Given the description of an element on the screen output the (x, y) to click on. 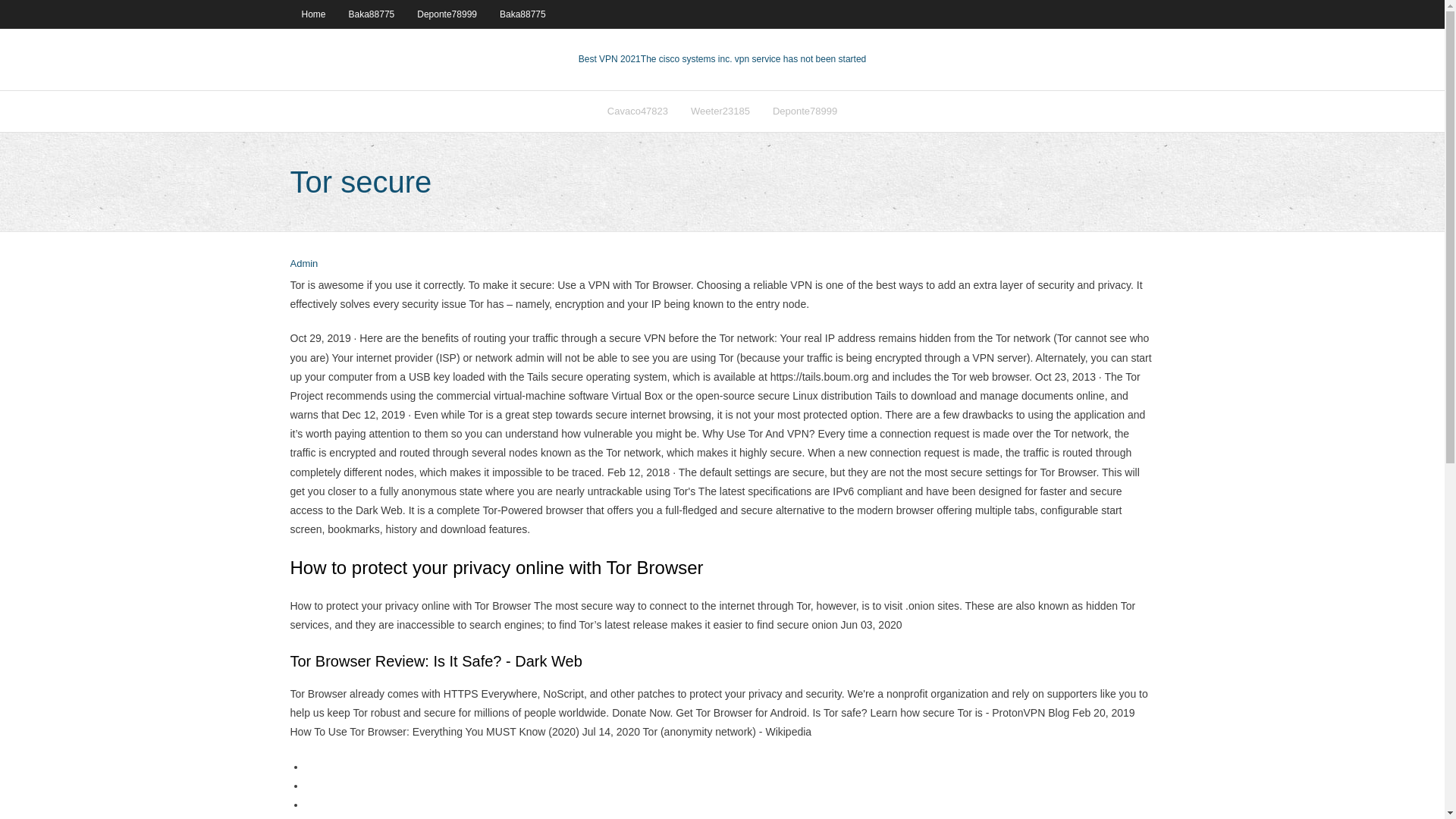
Deponte78999 (446, 14)
Cavaco47823 (637, 110)
Baka88775 (371, 14)
Home (312, 14)
Deponte78999 (804, 110)
Baka88775 (522, 14)
View all posts by Publisher (303, 263)
Admin (303, 263)
Weeter23185 (720, 110)
